Given the description of an element on the screen output the (x, y) to click on. 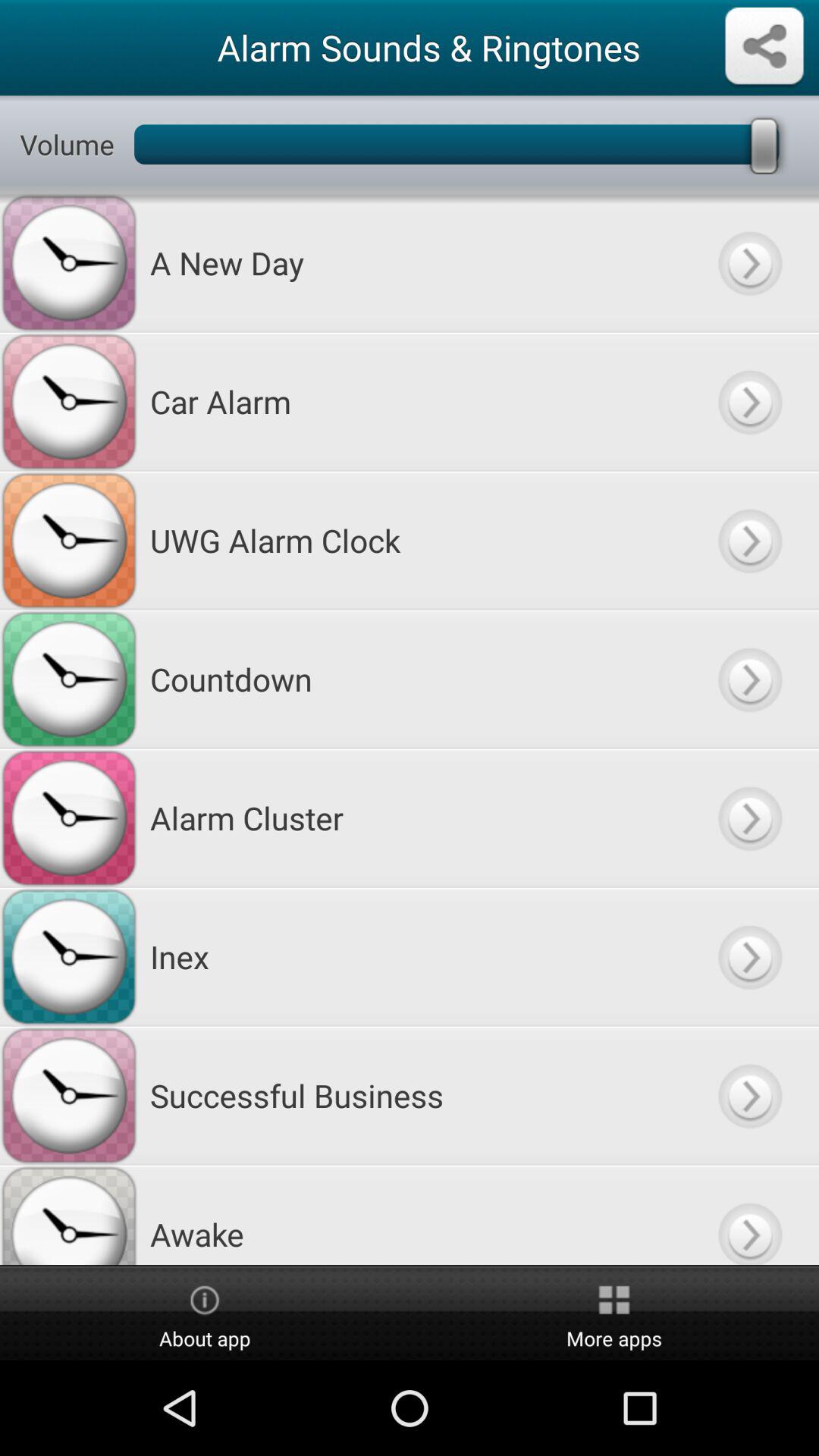
share (764, 47)
